Given the description of an element on the screen output the (x, y) to click on. 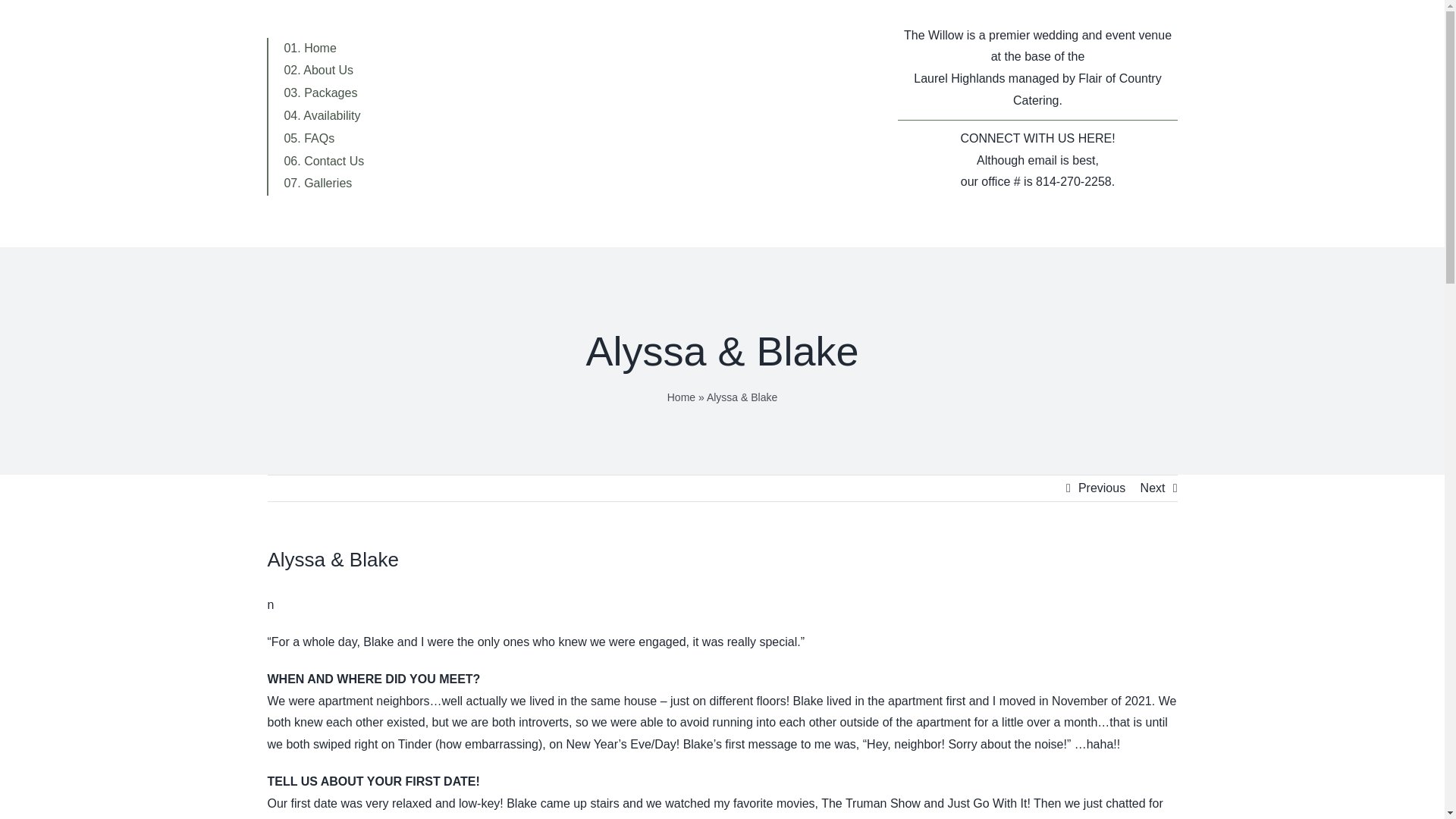
03. Packages (323, 93)
Home (680, 397)
04. Availability (323, 116)
02. About Us (323, 70)
814-270-2258. (1075, 181)
06. Contact Us (323, 161)
Previous (1101, 488)
01. Home (323, 48)
07. Galleries (323, 183)
CONNECT WITH US HERE! (1037, 137)
05. FAQs (323, 138)
Next (1153, 488)
